Given the description of an element on the screen output the (x, y) to click on. 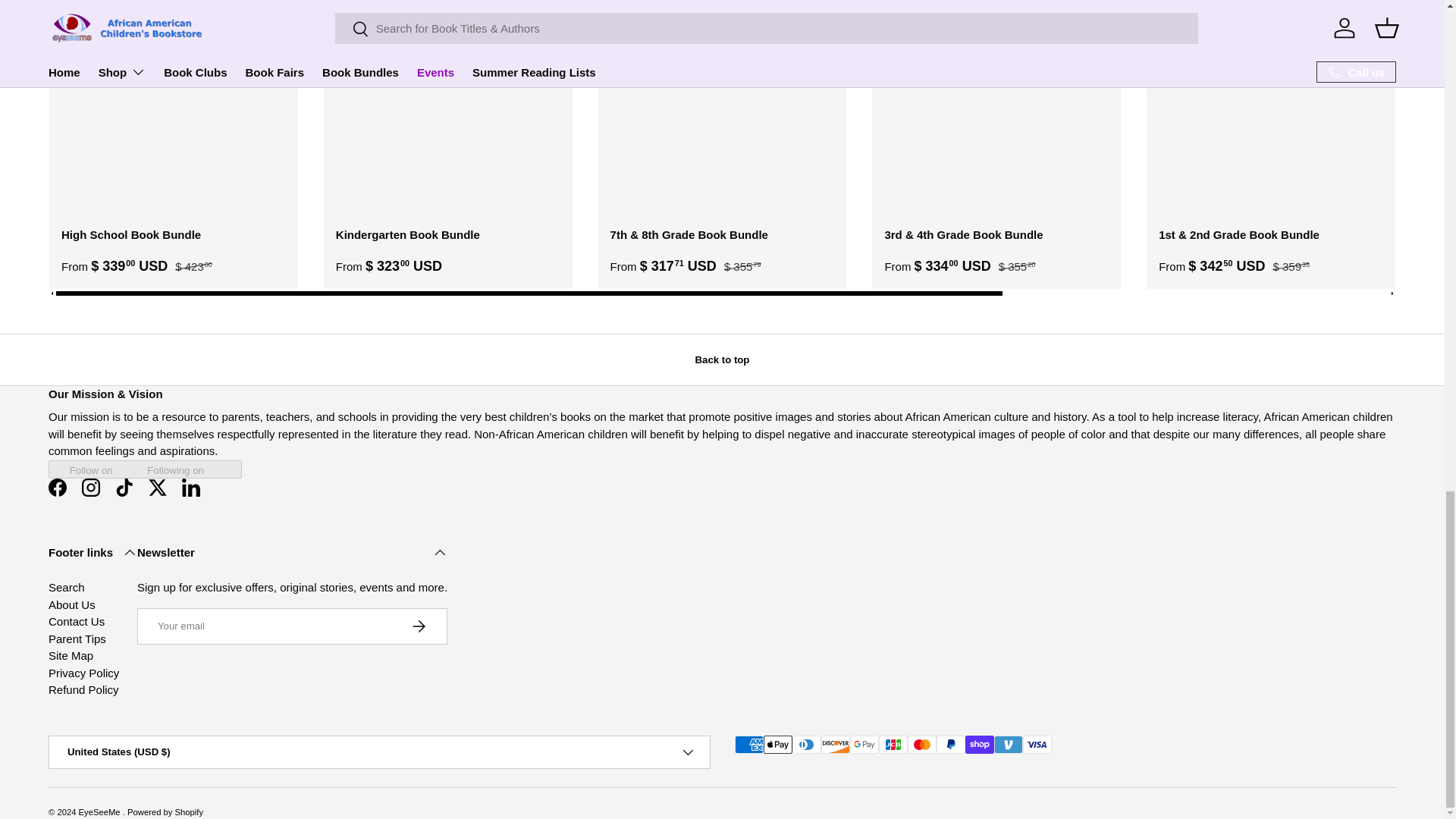
EyeSeeMe  on TikTok (124, 487)
EyeSeeMe  on Twitter (157, 487)
EyeSeeMe  on LinkedIn (191, 487)
EyeSeeMe  on Instagram (90, 487)
EyeSeeMe  on Facebook (57, 487)
